Given the description of an element on the screen output the (x, y) to click on. 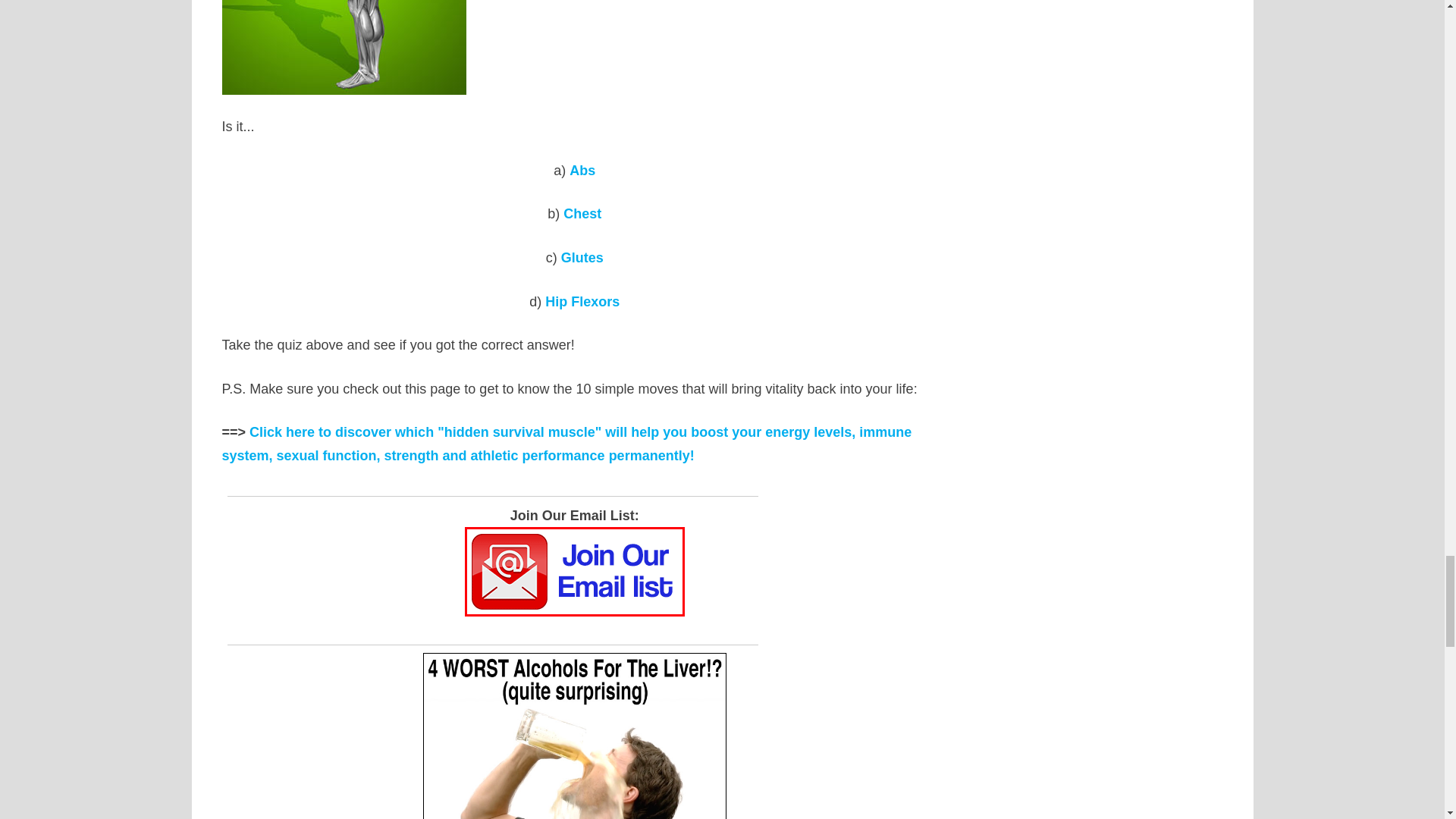
Abs (582, 170)
Hip Flexors (582, 301)
Chest (582, 213)
Glutes (582, 257)
